Given the description of an element on the screen output the (x, y) to click on. 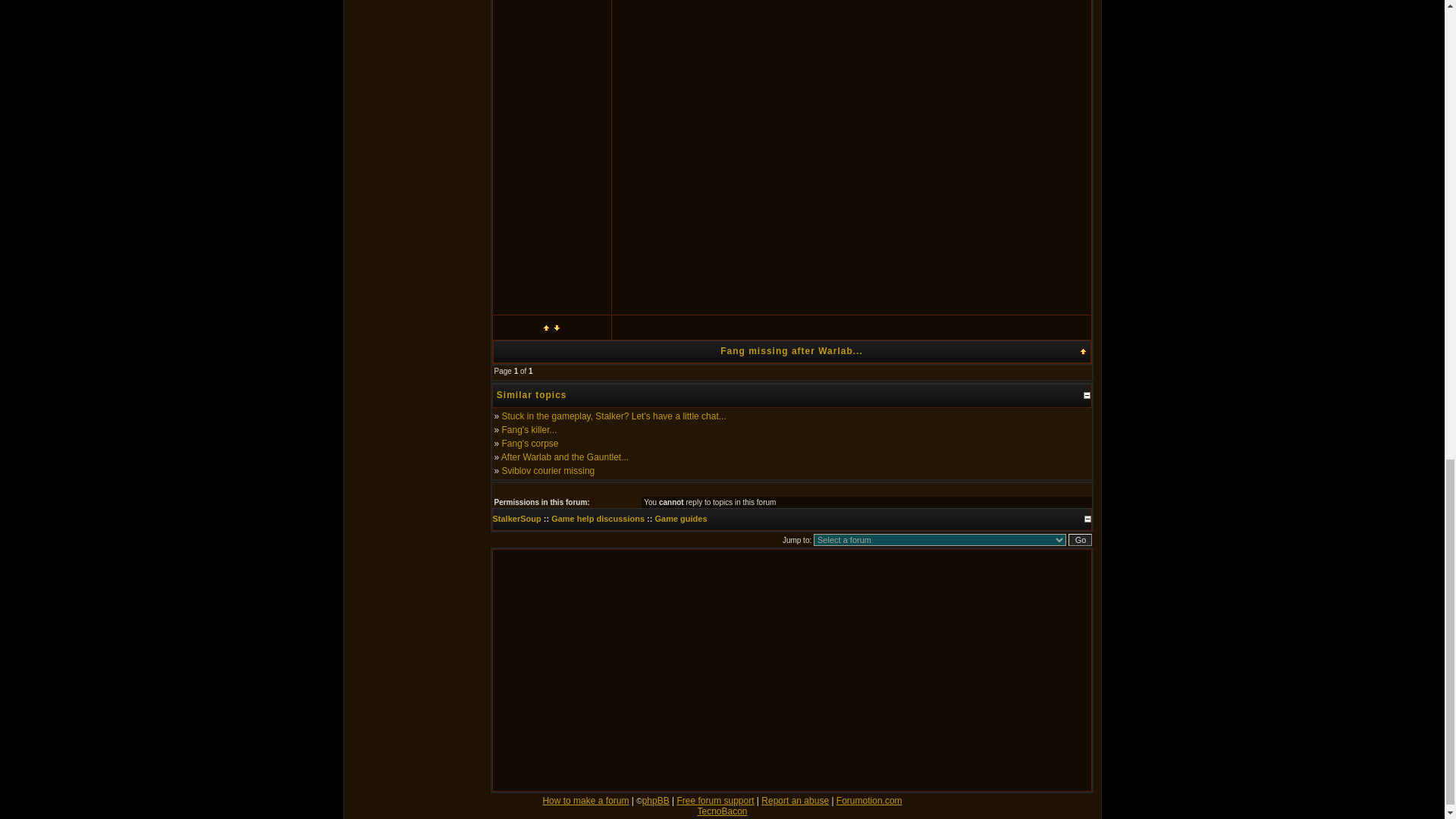
Stuck in the gameplay, Stalker? Let's have a little chat... (614, 416)
Sviblov courier missing (548, 470)
After Warlab and the Gauntlet... (564, 457)
Fang's corpse (530, 443)
Fang's killer... (529, 429)
TecnoBacon Home Site (721, 810)
Go (1080, 539)
